Given the description of an element on the screen output the (x, y) to click on. 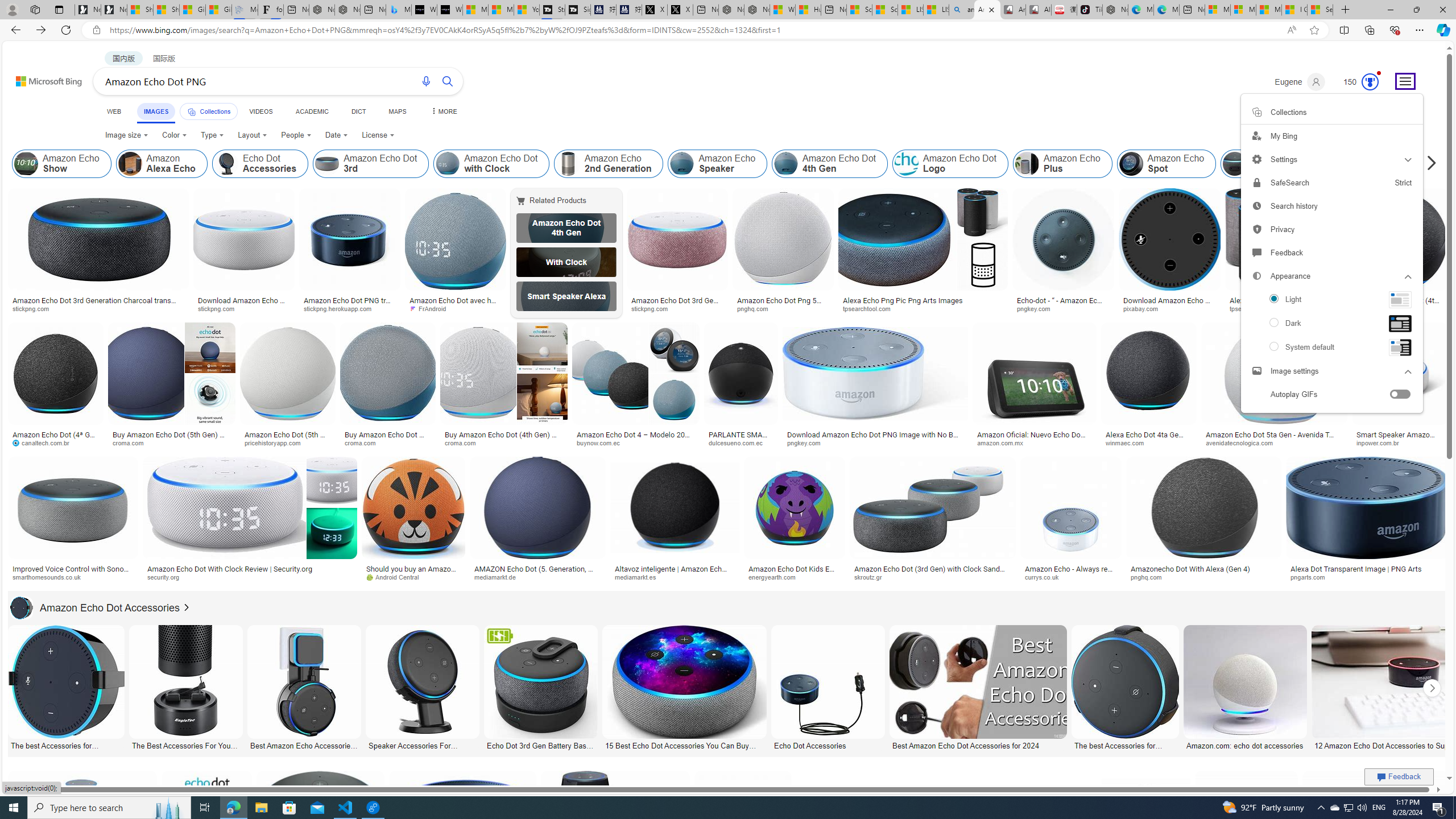
Amazon Echo Dot 3 (1235, 163)
WEB (114, 111)
amazon.com.mx (1003, 442)
Privacy (1331, 228)
People (295, 135)
Class: rdio-icon (1273, 345)
Amazon.com: echo dot accessories (1245, 744)
Microsoft Rewards 147 (1356, 81)
winmaec.com (1128, 442)
